Given the description of an element on the screen output the (x, y) to click on. 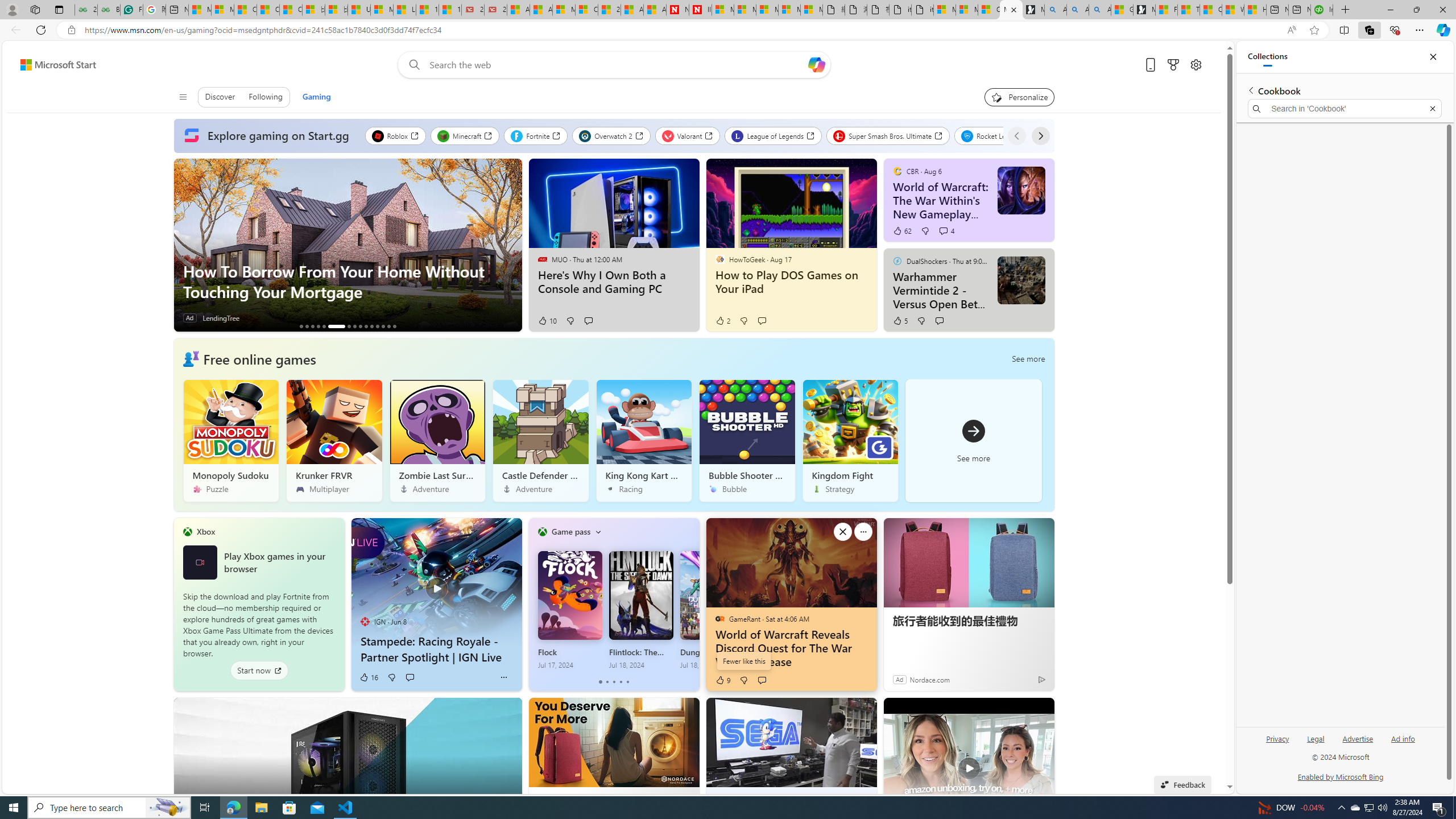
Select Category (598, 531)
AutomationID: tab_nativead-infopane-11 (371, 326)
Explore gaming on Start.gg (269, 135)
16 Like (367, 676)
LendingTree (220, 317)
Exit search (1432, 108)
tab-1 (606, 682)
Flintlock: The Siege of Dawn Jul 18, 2024 (640, 610)
